Given the description of an element on the screen output the (x, y) to click on. 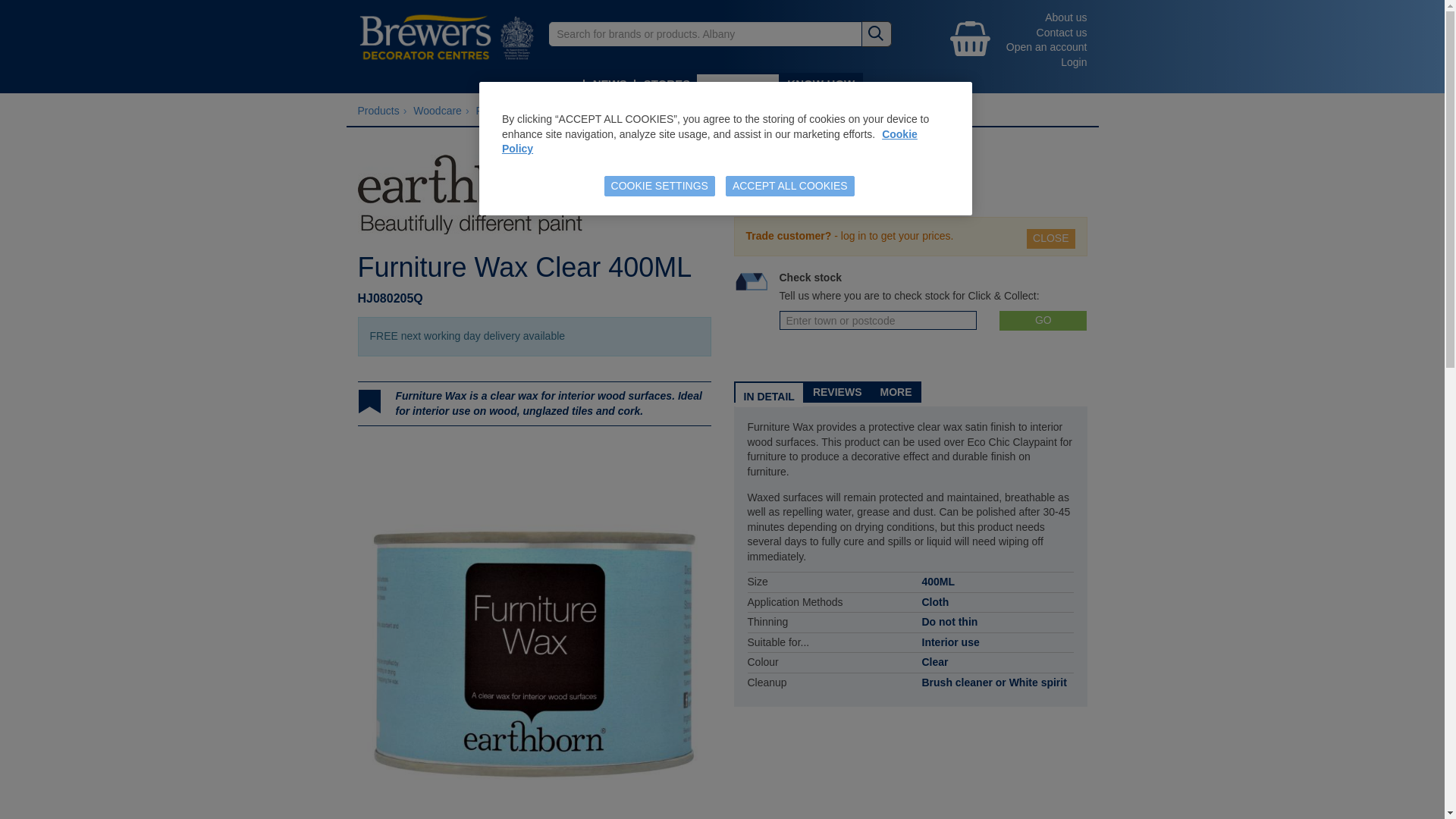
Products (378, 110)
KNOW-HOW (820, 83)
Brewers' stores (666, 83)
Open an account (1046, 46)
STORES (666, 83)
Woodcare (437, 110)
NEWS (609, 83)
PRODUCTS (738, 88)
Brewers' news (609, 83)
1 (754, 191)
Login (1073, 61)
Contact us (1061, 32)
About us (1065, 17)
